Given the description of an element on the screen output the (x, y) to click on. 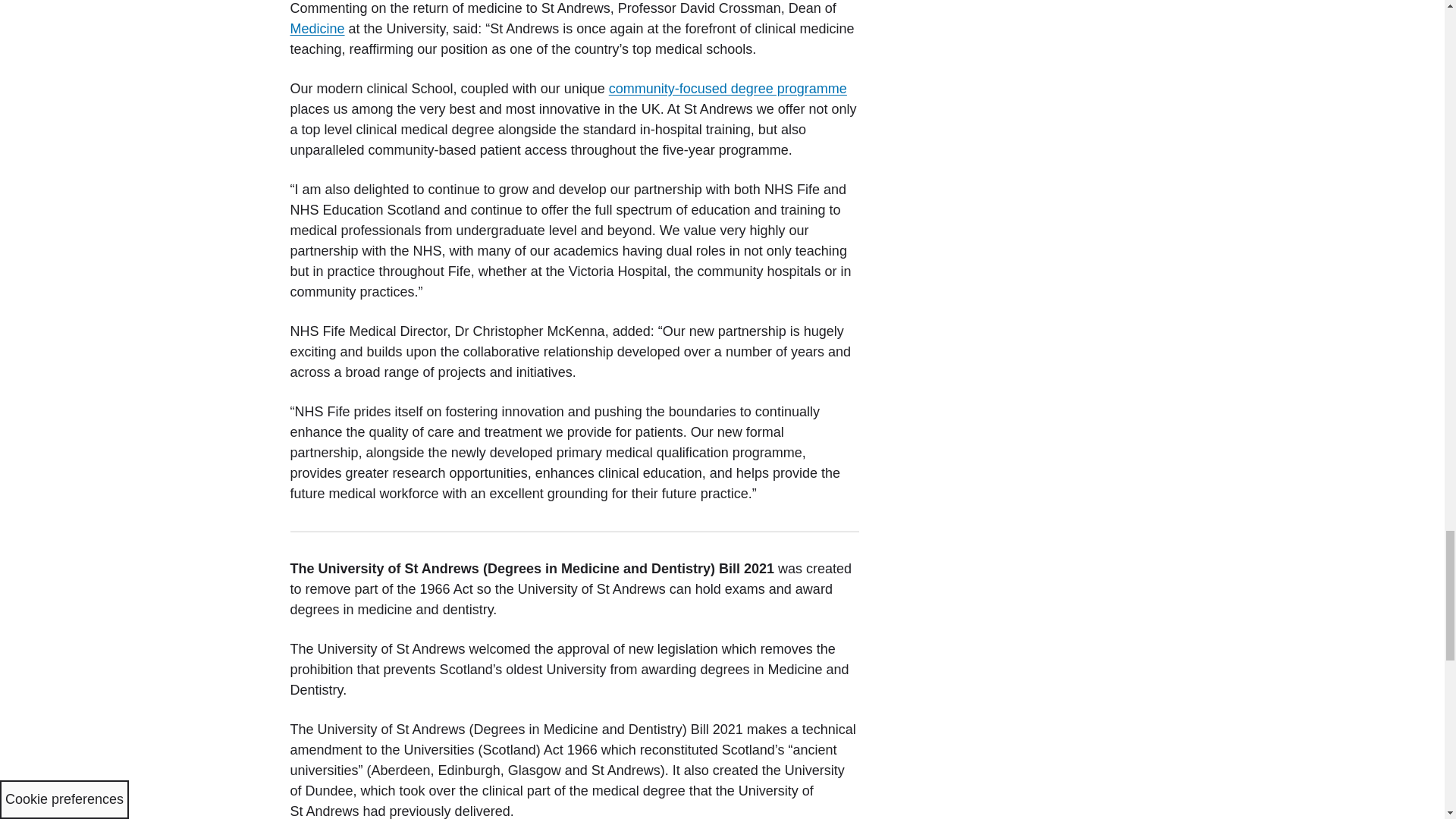
Medicine (316, 28)
community-focused degree programme (727, 88)
